Given the description of an element on the screen output the (x, y) to click on. 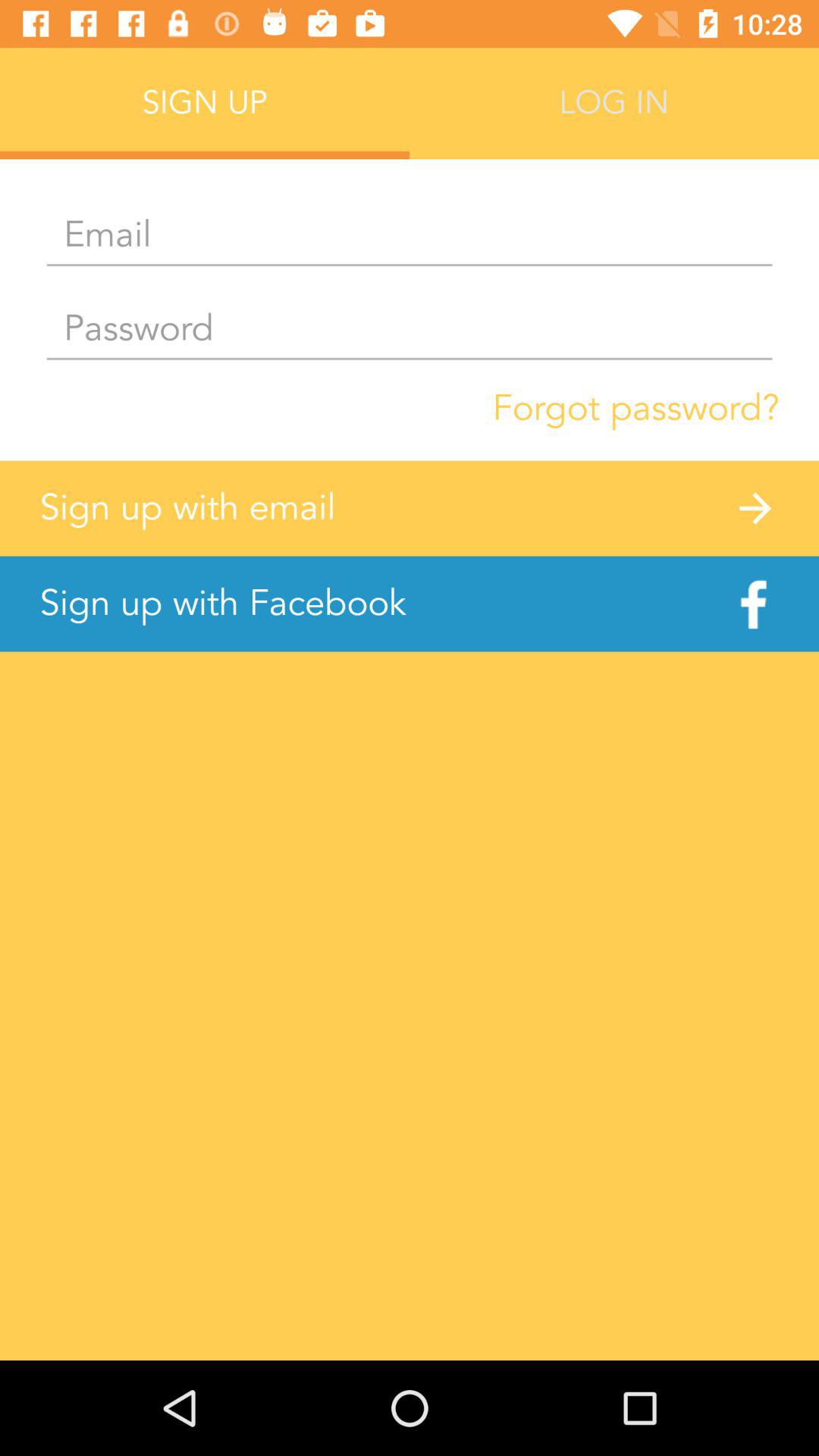
enter email (409, 236)
